Given the description of an element on the screen output the (x, y) to click on. 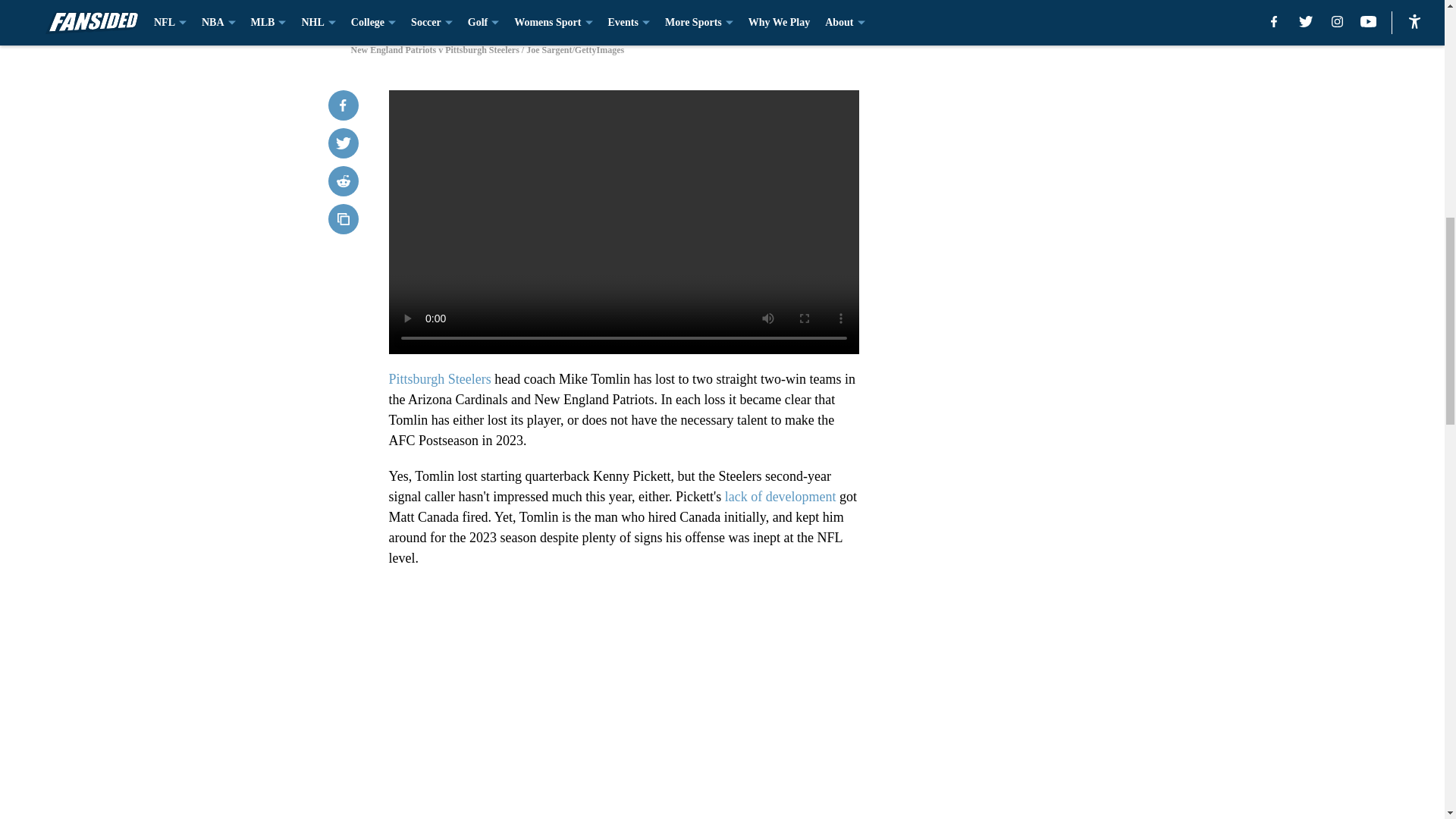
3rd party ad content (1047, 184)
3rd party ad content (1047, 403)
New England Patriots v Pittsburgh Steelers (721, 14)
